Given the description of an element on the screen output the (x, y) to click on. 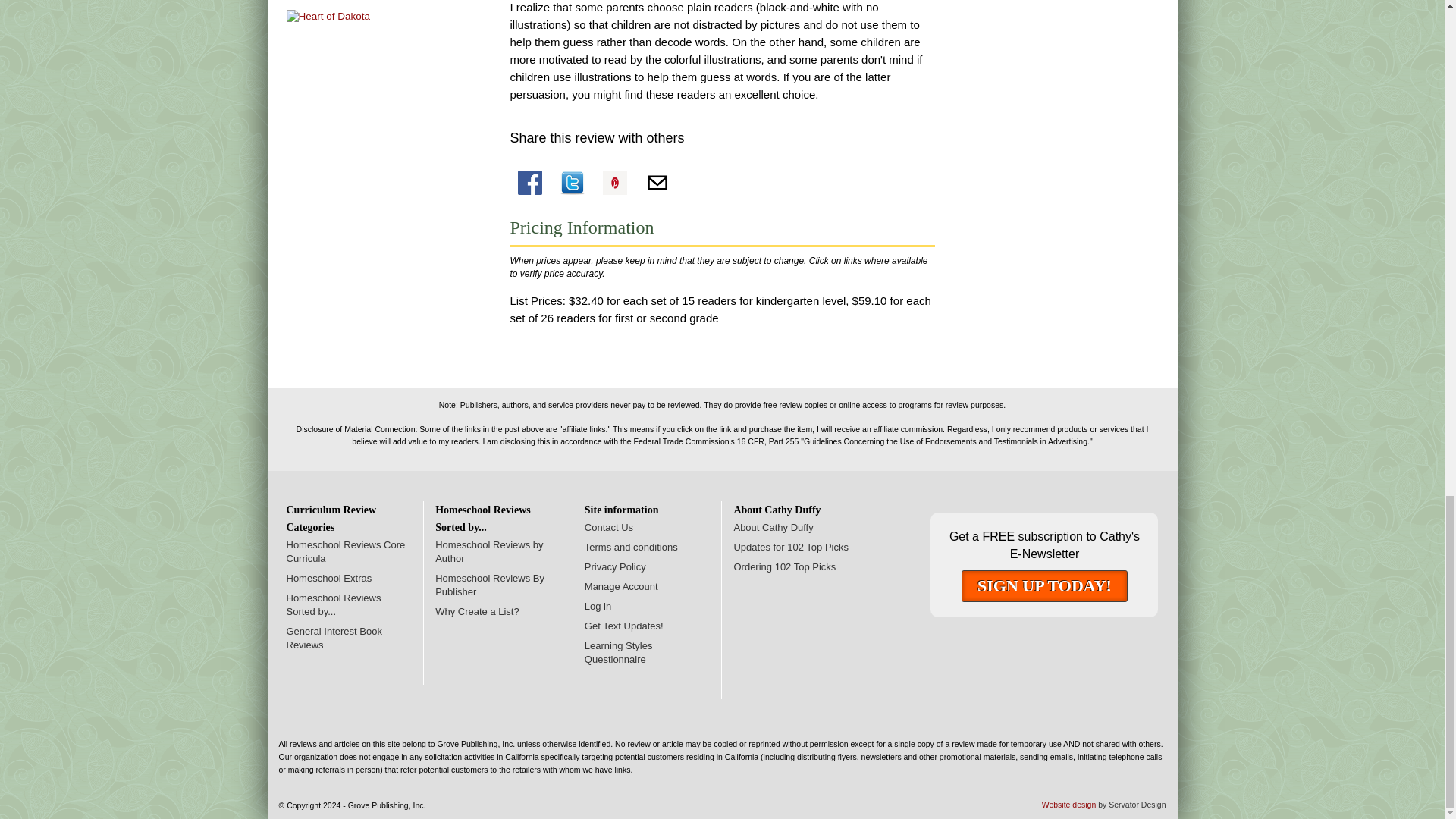
Heart of Dakota (328, 15)
Sign Up today! (1043, 585)
